Given the description of an element on the screen output the (x, y) to click on. 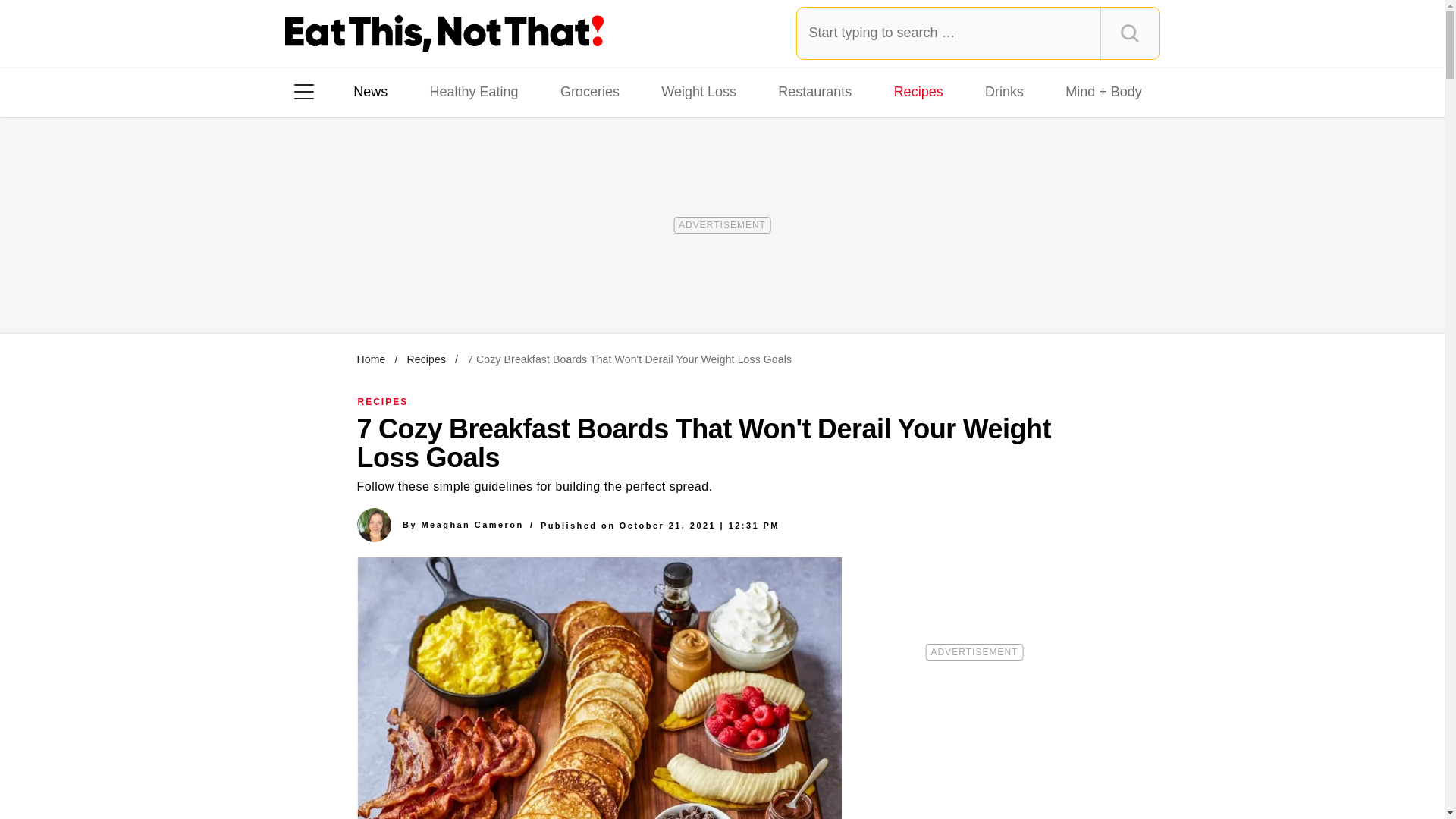
Facebook (314, 287)
TikTok (399, 287)
Pinterest (443, 287)
Instagram (357, 287)
Restaurants (814, 91)
Eat This Not That Homepage (444, 33)
TikTok (399, 287)
Groceries (590, 91)
Weight Loss (698, 91)
Instagram (357, 287)
News (370, 91)
Home (370, 358)
Recipes (918, 91)
Pinterest (443, 287)
Type and press Enter to search (978, 32)
